Given the description of an element on the screen output the (x, y) to click on. 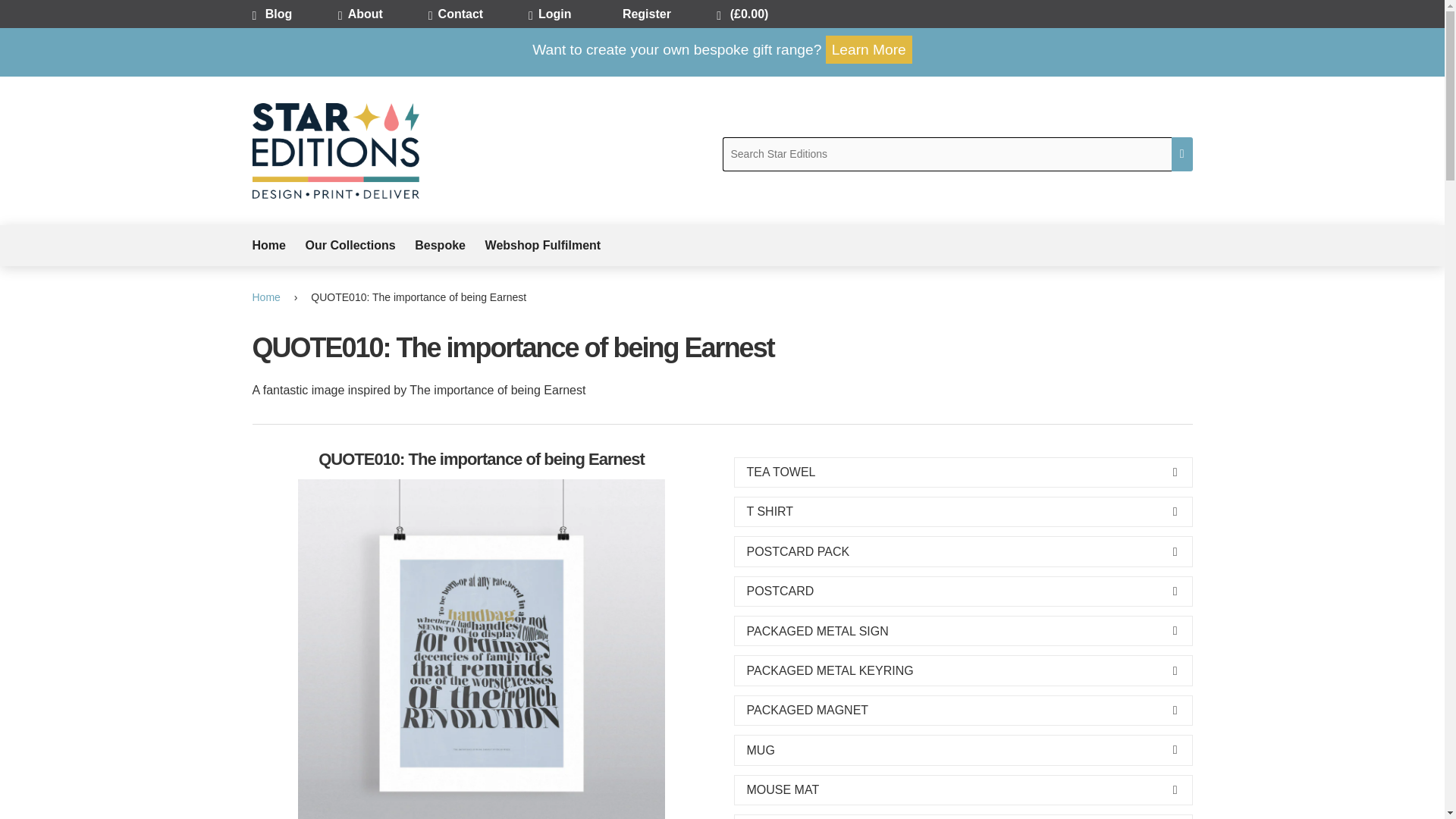
Back to the home page (268, 297)
Home (268, 297)
Contact (476, 13)
Home (277, 245)
Bespoke (449, 245)
Webshop Fulfilment (552, 245)
Register (666, 13)
Our Collections (359, 245)
Login (572, 13)
About (381, 13)
Learn More (868, 49)
Blog (294, 13)
